Given the description of an element on the screen output the (x, y) to click on. 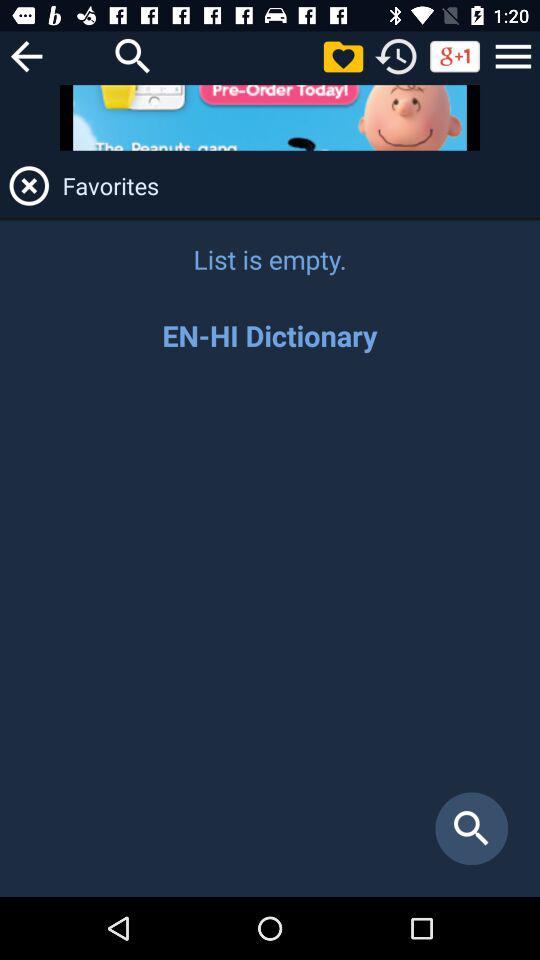
open search bar (133, 56)
